Given the description of an element on the screen output the (x, y) to click on. 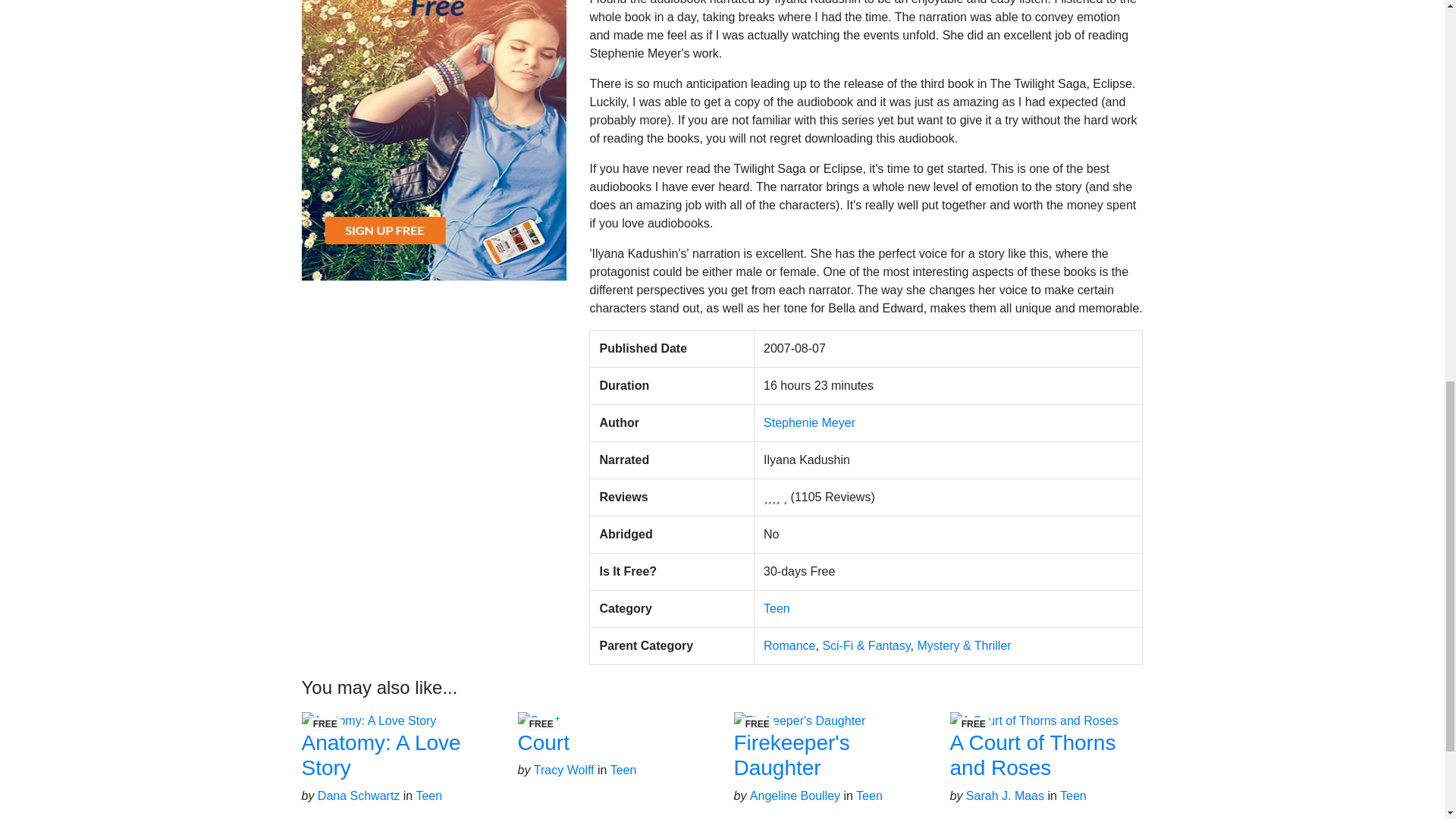
Stephenie Meyer (809, 422)
Romance (788, 645)
Anatomy: A Love Story (381, 755)
Teen (776, 608)
